Given the description of an element on the screen output the (x, y) to click on. 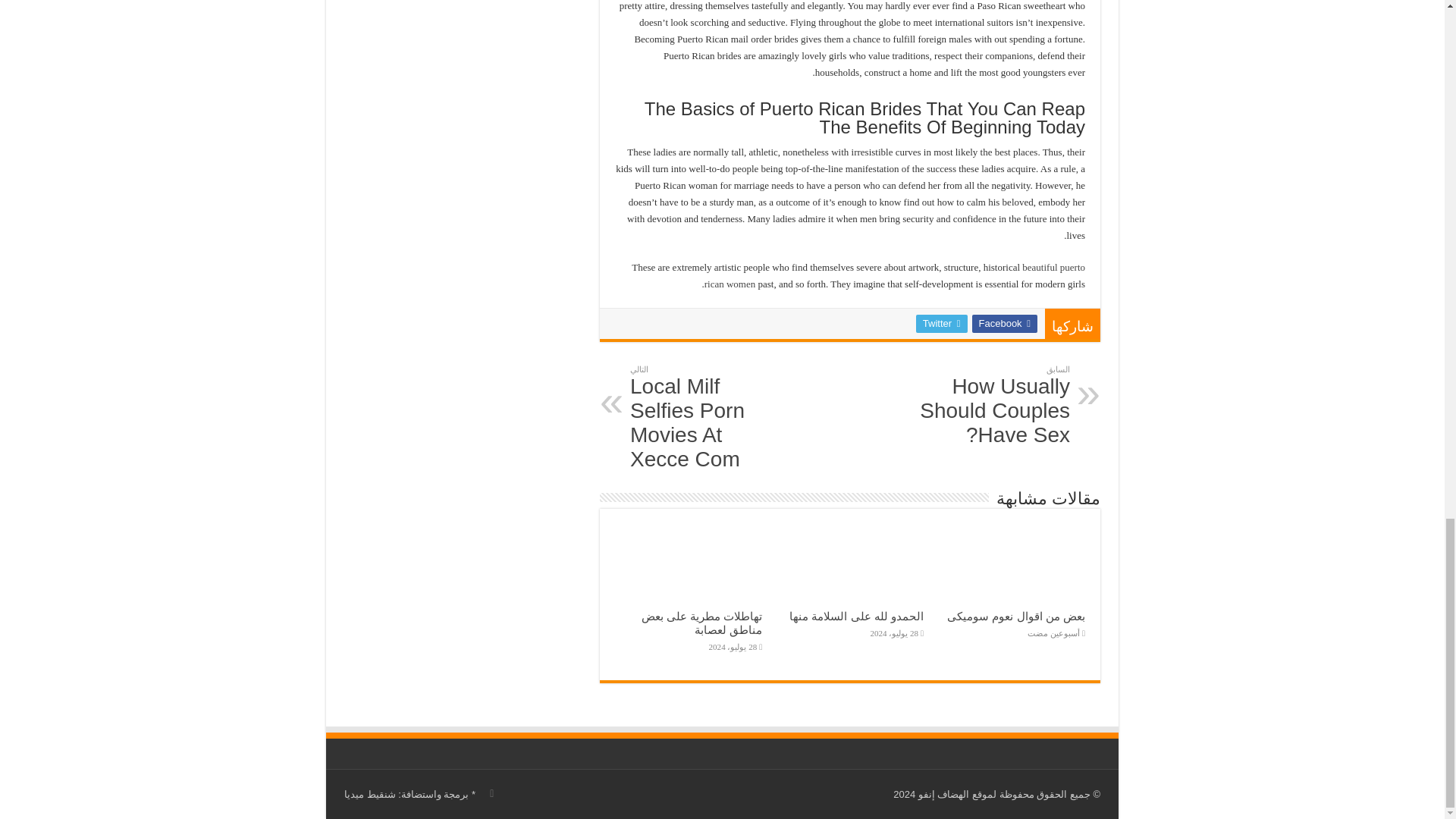
Twitter (941, 323)
beautiful puerto rican women (894, 275)
Facebook (1004, 323)
